Given the description of an element on the screen output the (x, y) to click on. 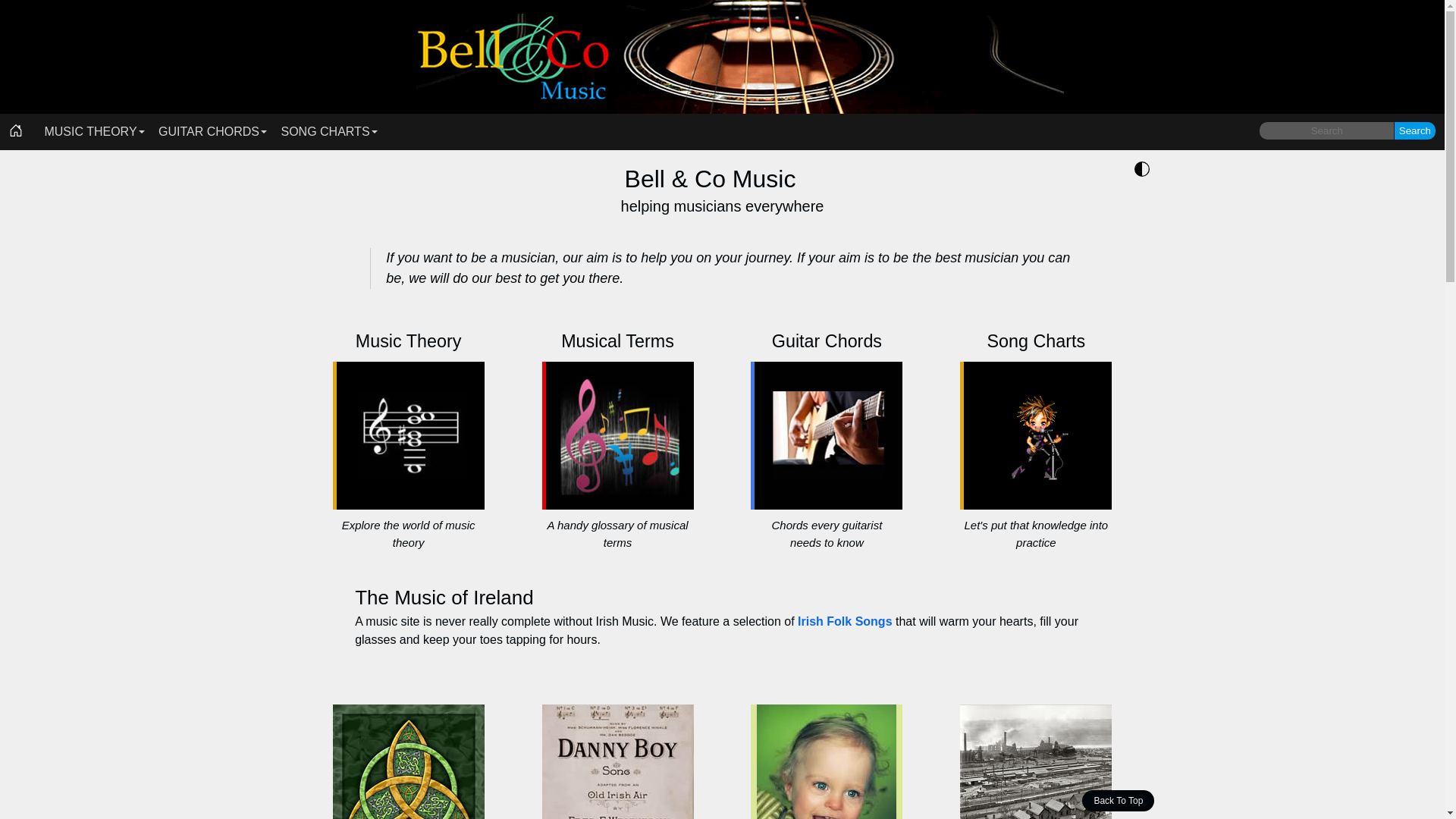
Search (1414, 130)
SONG CHARTS (324, 131)
Home (722, 56)
Home (16, 131)
Irish Folk Songs (844, 621)
MUSIC THEORY (89, 131)
GUITAR CHORDS (208, 131)
